Given the description of an element on the screen output the (x, y) to click on. 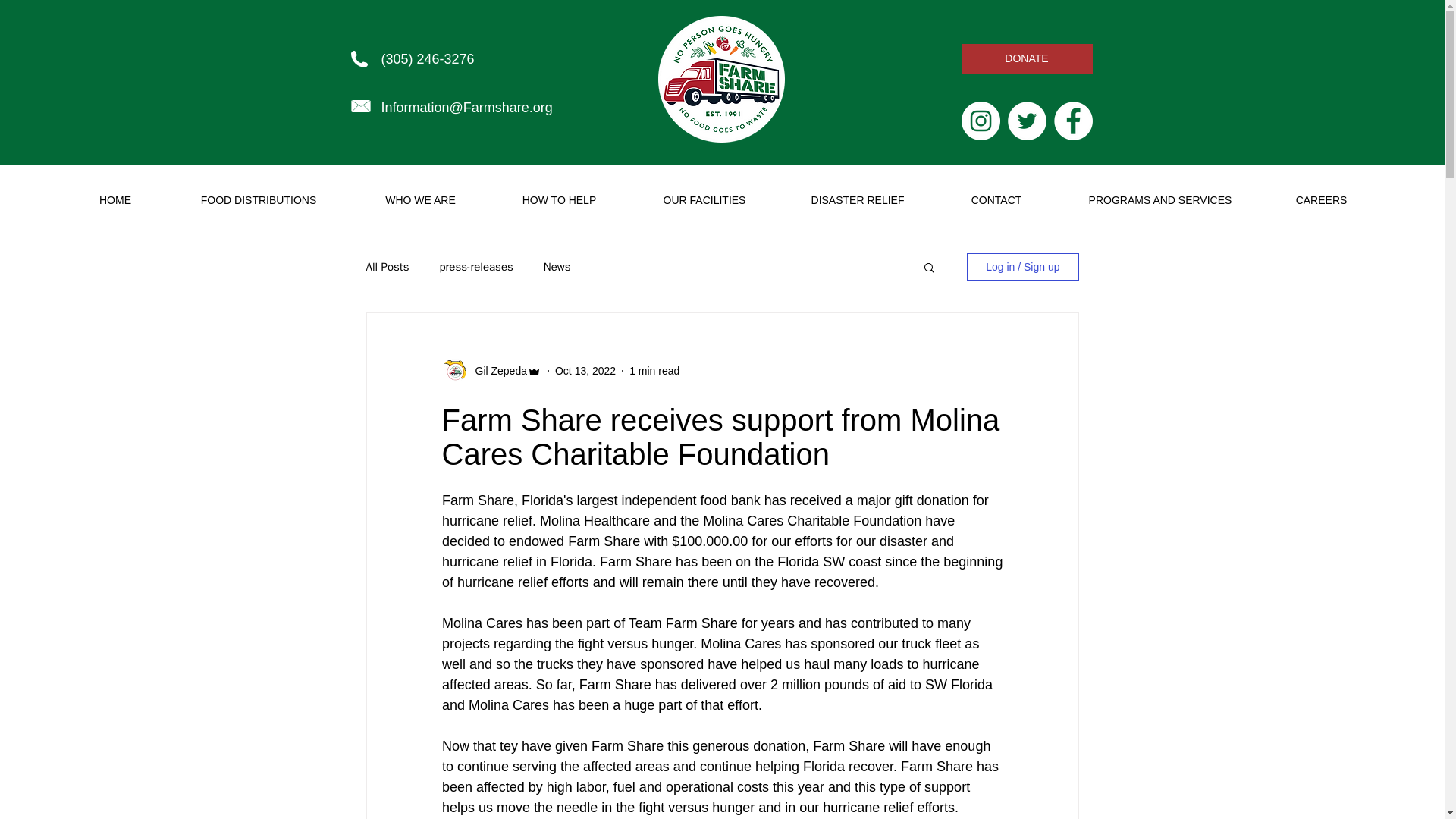
press-releases (475, 266)
FOOD DISTRIBUTIONS (258, 200)
1 min read (653, 369)
DISASTER RELIEF (857, 200)
Oct 13, 2022 (584, 369)
HOME (114, 200)
DONATE (1026, 58)
HOW TO HELP (558, 200)
News (556, 266)
Gil Zepeda (495, 370)
